Given the description of an element on the screen output the (x, y) to click on. 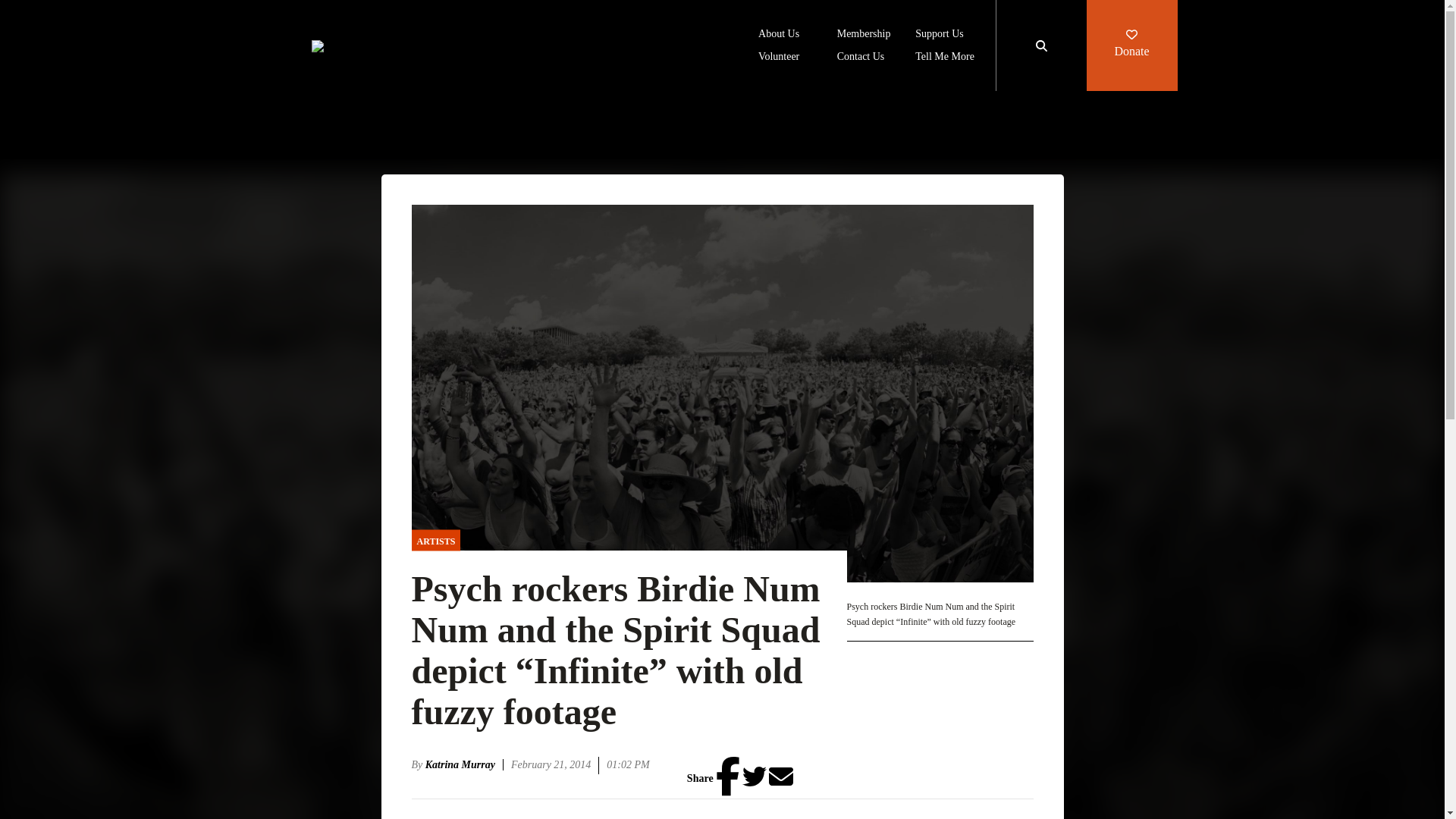
About Us (778, 35)
Contact Us (861, 57)
Tell Me More (944, 57)
Support Us (938, 35)
Membership (864, 35)
Volunteer (778, 57)
Katrina Murray (464, 764)
Donate (1131, 45)
